Given the description of an element on the screen output the (x, y) to click on. 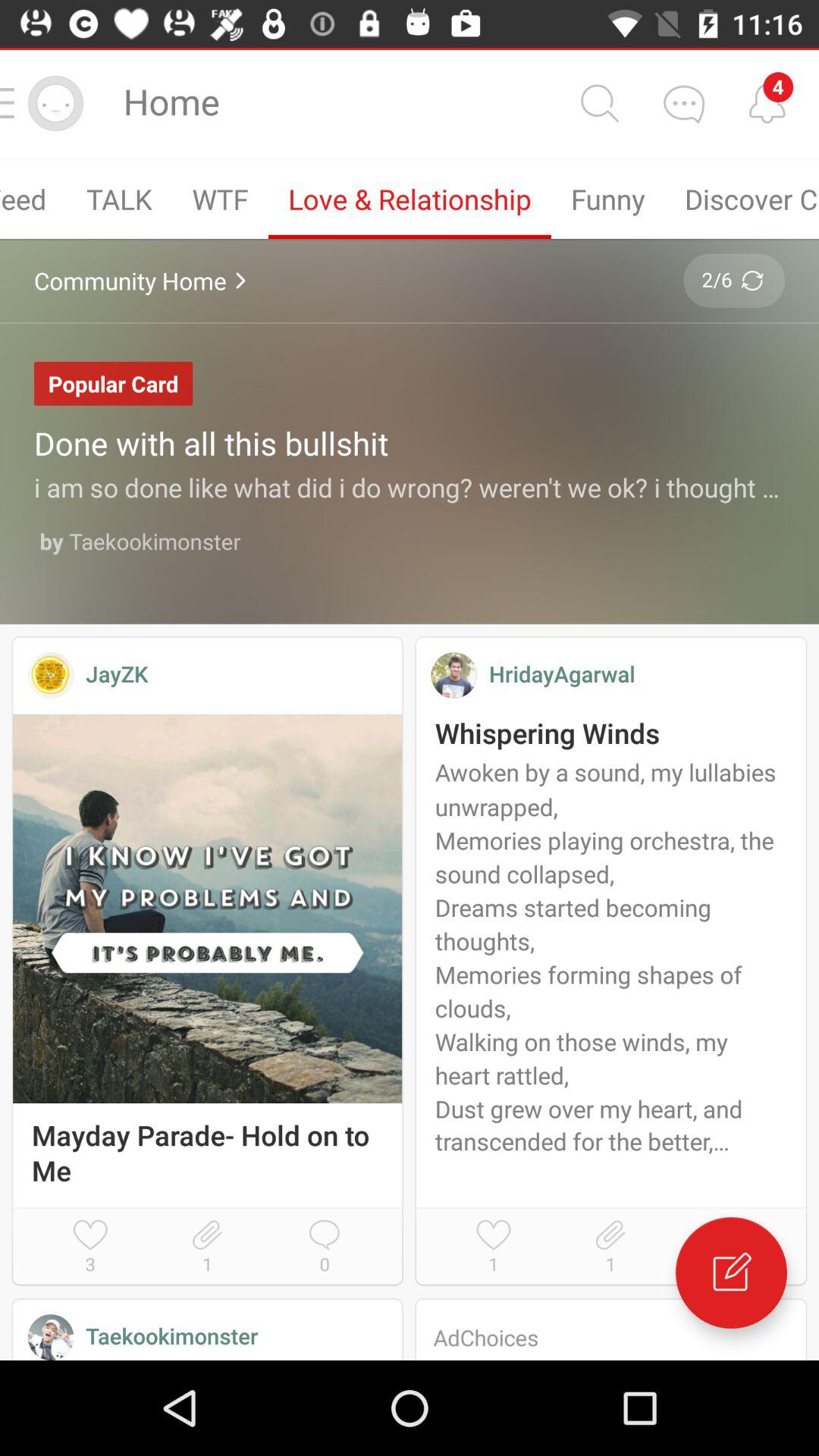
more fulchear (683, 103)
